Given the description of an element on the screen output the (x, y) to click on. 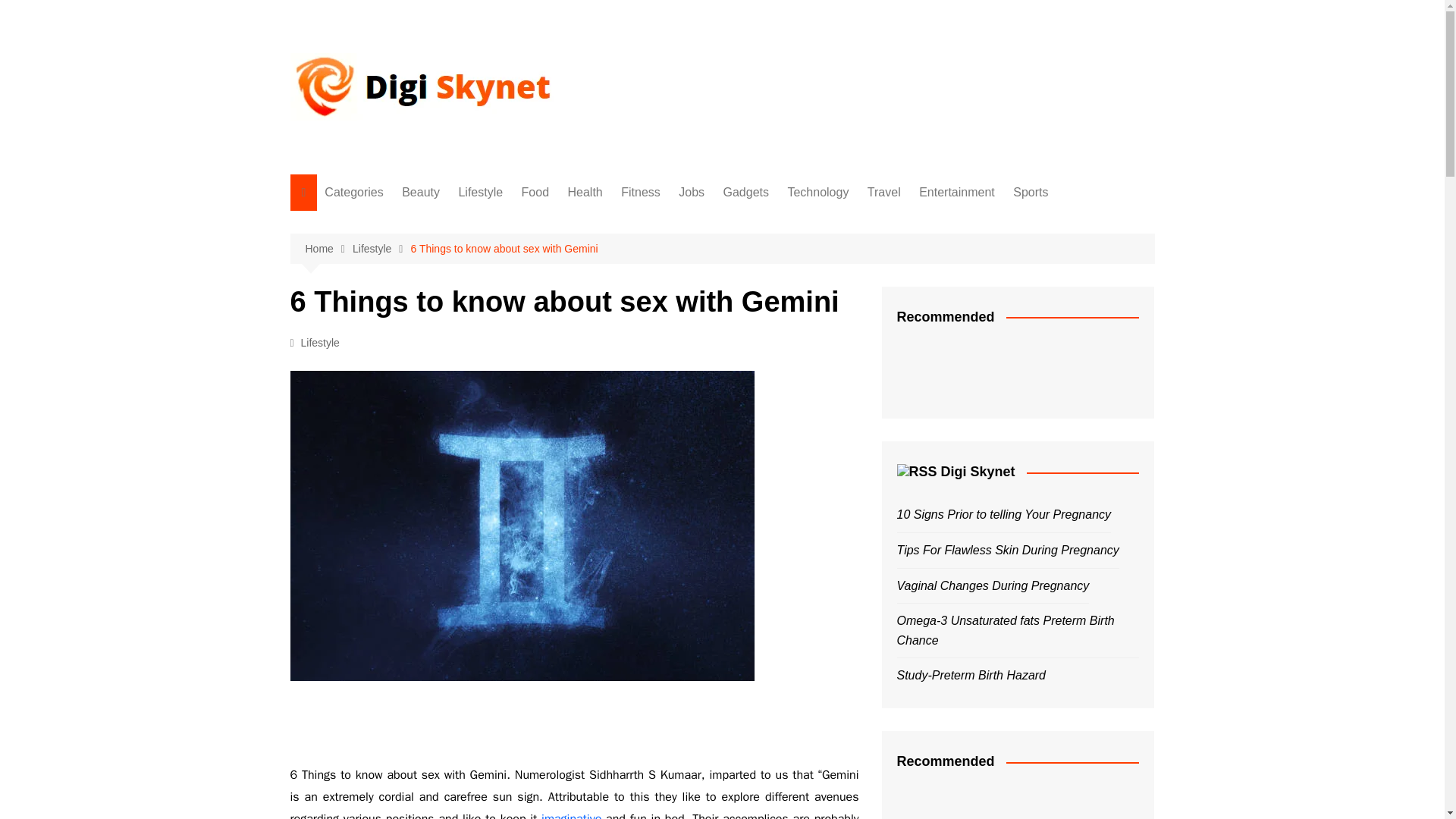
Health (585, 192)
Jobs (400, 373)
Gadgets (746, 192)
6 Things to know about sex with Gemini (503, 248)
Lifestyle (480, 192)
Lifestyle (381, 248)
Pets (400, 523)
Beauty (420, 192)
Categories (353, 192)
Beauty (400, 222)
Food (534, 192)
Technology (817, 192)
Health (400, 298)
Fitness (640, 192)
